Given the description of an element on the screen output the (x, y) to click on. 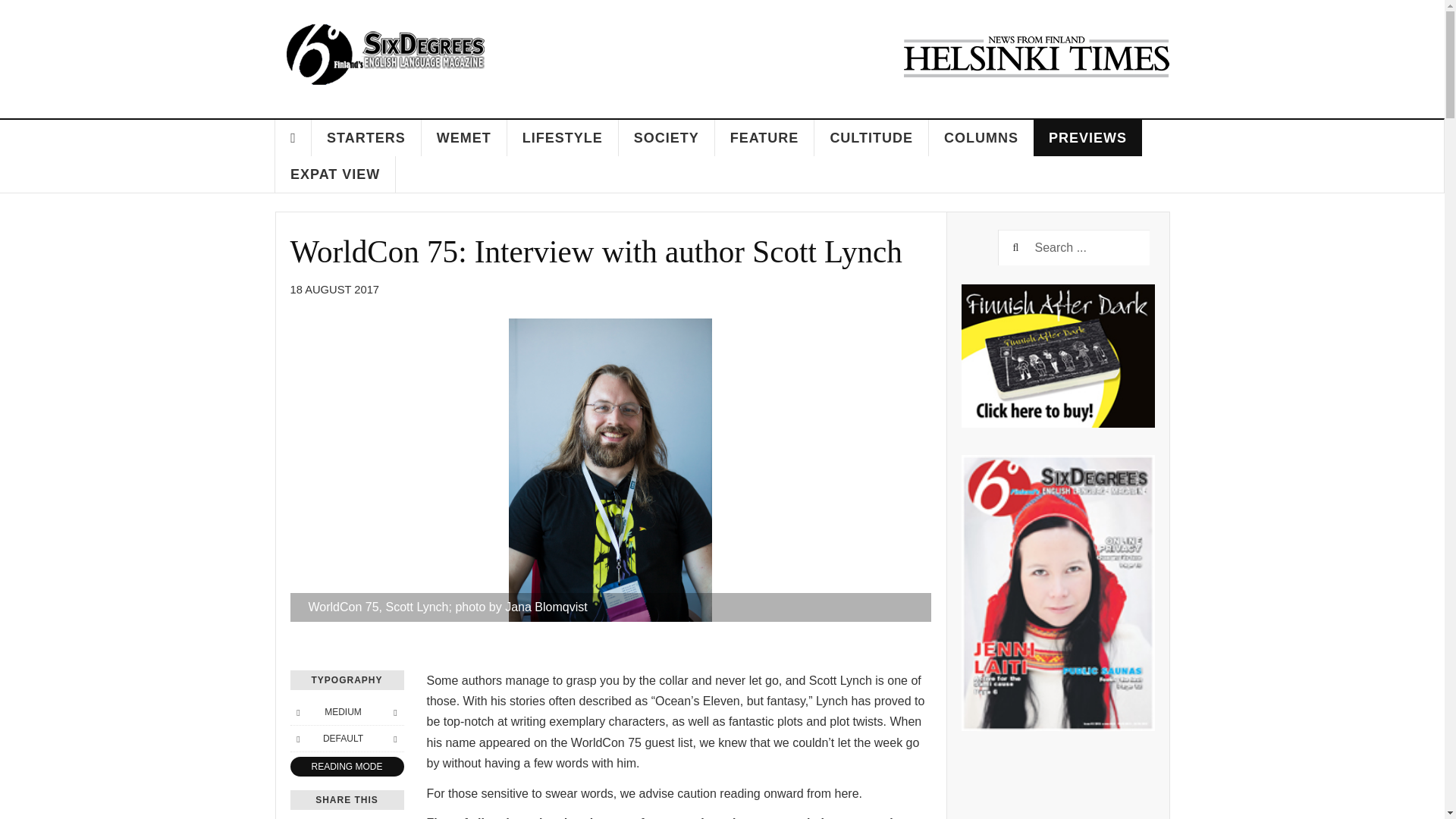
WorldCon 75: Interview with author Scott Lynch (595, 251)
COLUMNS (980, 137)
Search ... (1073, 247)
READING MODE (346, 766)
Search ... (1073, 247)
EXPAT VIEW (335, 174)
LIFESTYLE (562, 137)
WorldCon 75: Interview with author Scott Lynch (595, 251)
Bigger Font (395, 711)
Next Font Style (395, 738)
